Given the description of an element on the screen output the (x, y) to click on. 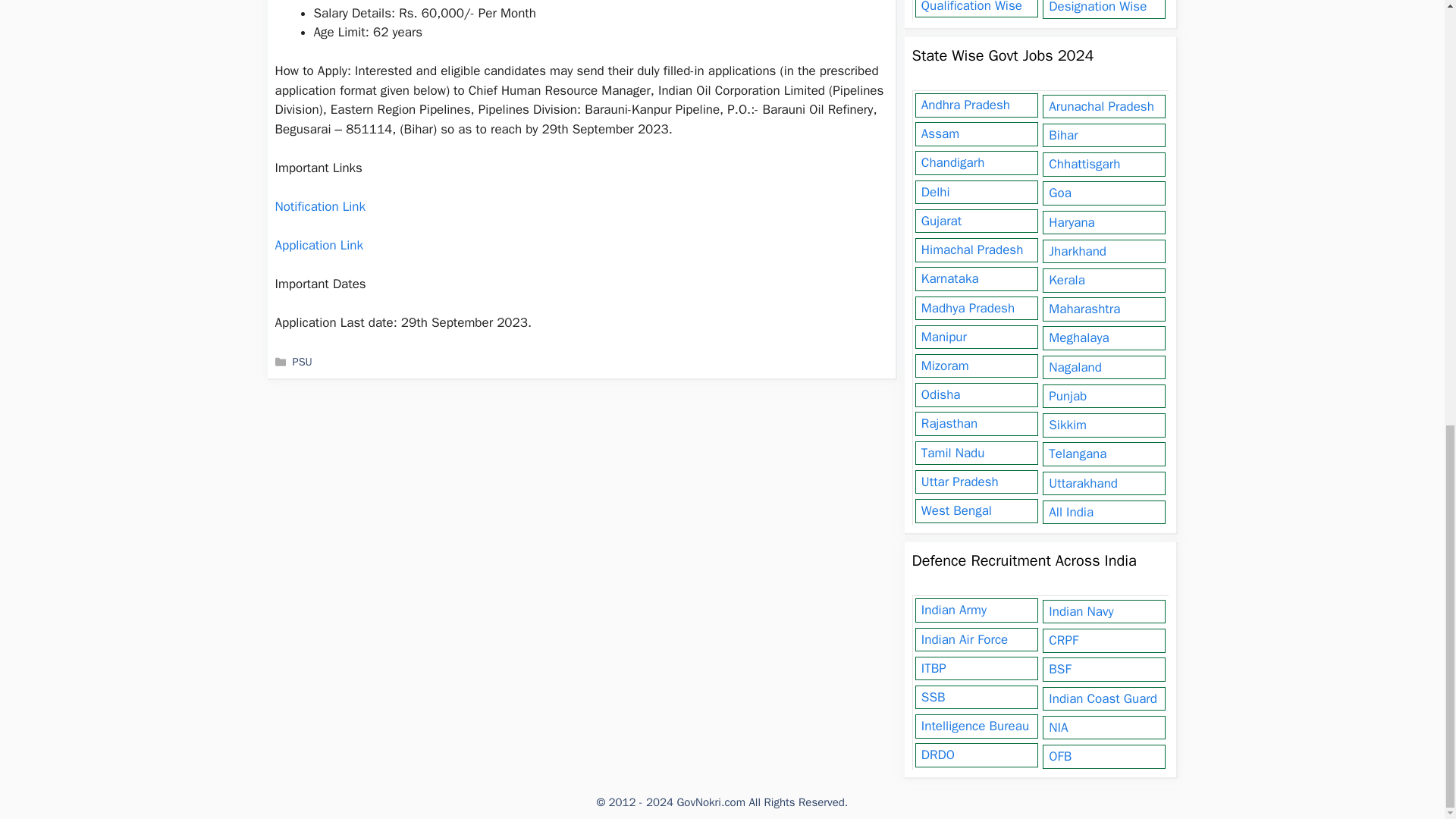
Application Link (318, 245)
PSU (302, 361)
Notification Link (320, 206)
